Given the description of an element on the screen output the (x, y) to click on. 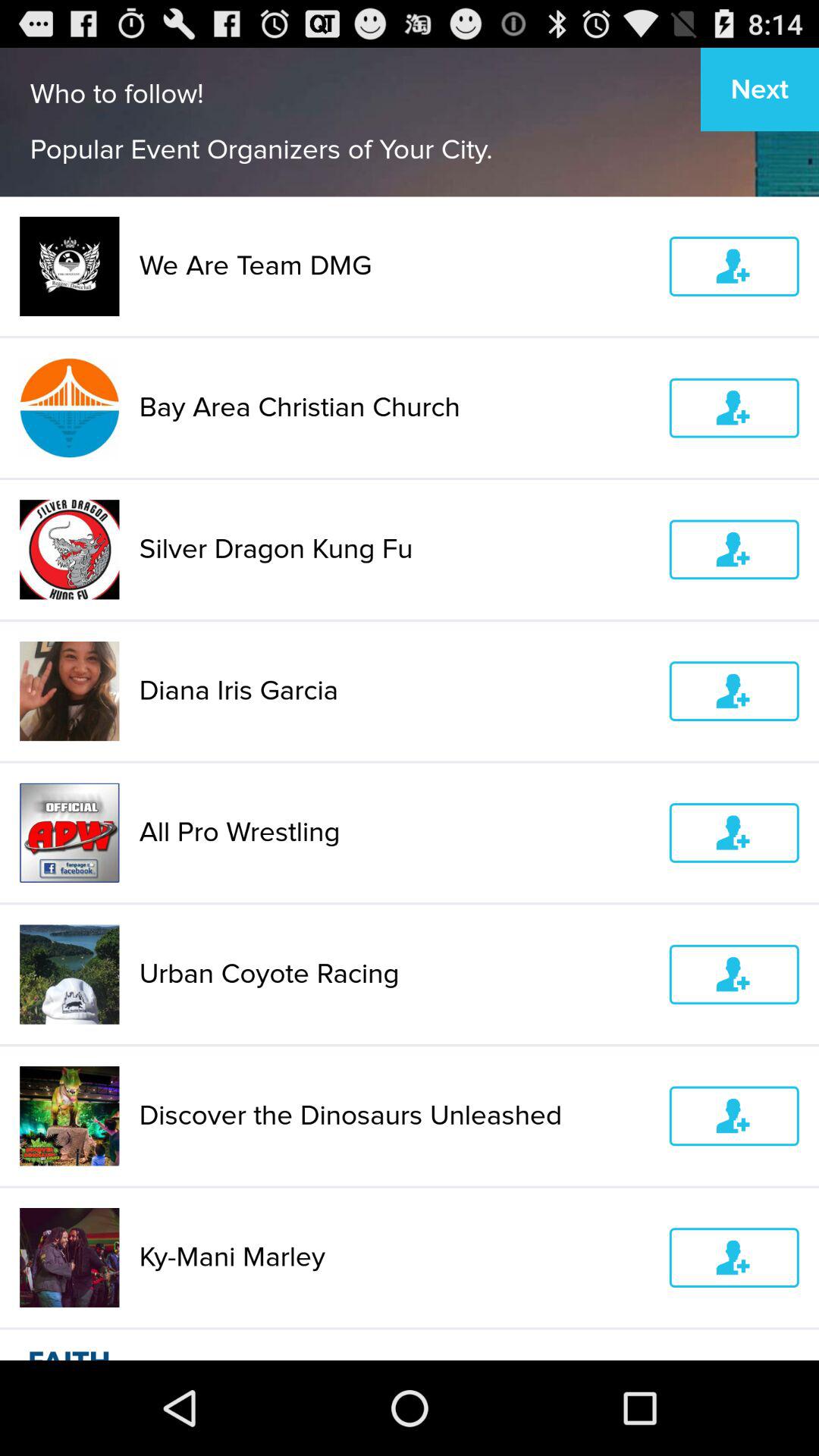
flip until the ky-mani marley (394, 1257)
